Given the description of an element on the screen output the (x, y) to click on. 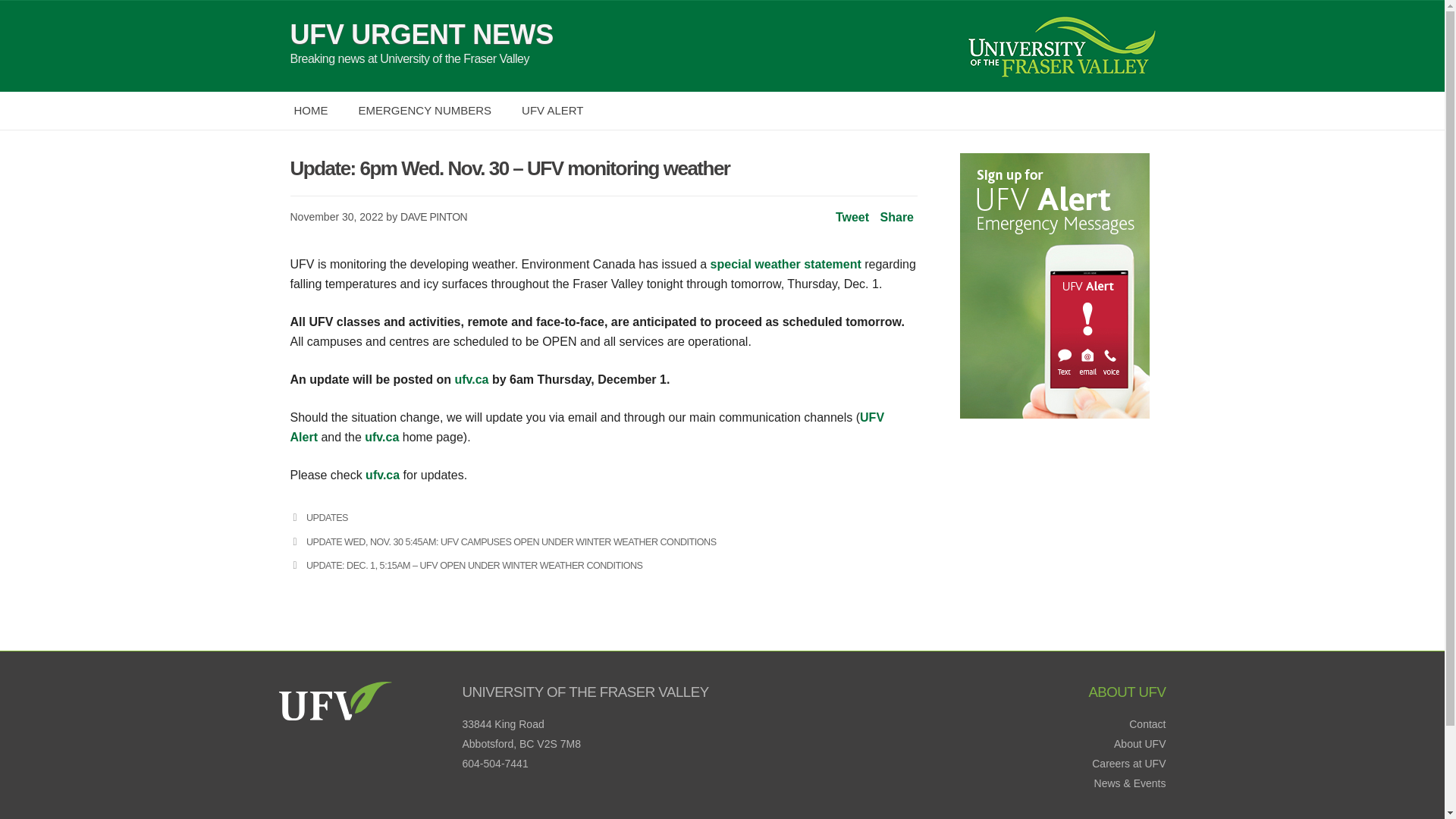
Careers at UFV (1129, 763)
Careers at UFV (1129, 763)
ufv.ca (381, 436)
UFV URGENT NEWS (421, 34)
Contact (1147, 724)
UFV Alert (586, 427)
EMERGENCY NUMBERS (424, 110)
Contact UFV (1147, 724)
HOME (311, 110)
